Given the description of an element on the screen output the (x, y) to click on. 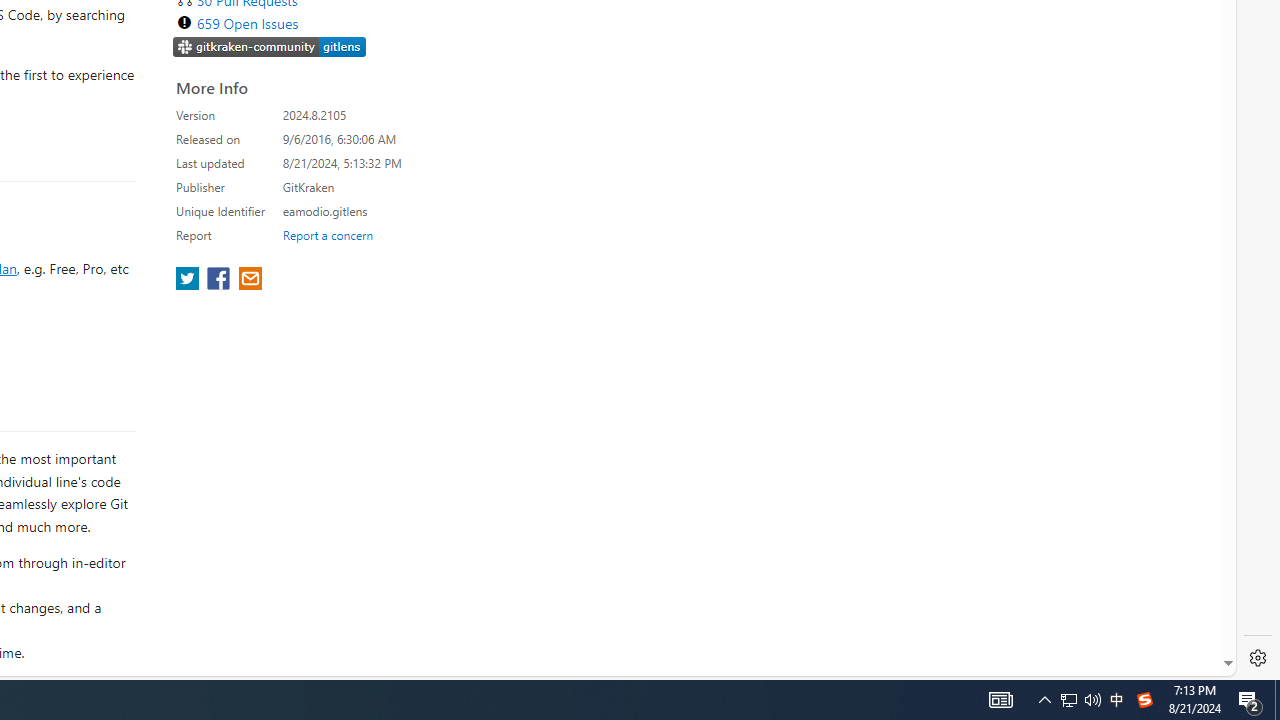
https://slack.gitkraken.com// (269, 46)
share extension on facebook (220, 280)
https://slack.gitkraken.com// (269, 48)
share extension on email (249, 280)
share extension on twitter (190, 280)
Report a concern (327, 234)
